Given the description of an element on the screen output the (x, y) to click on. 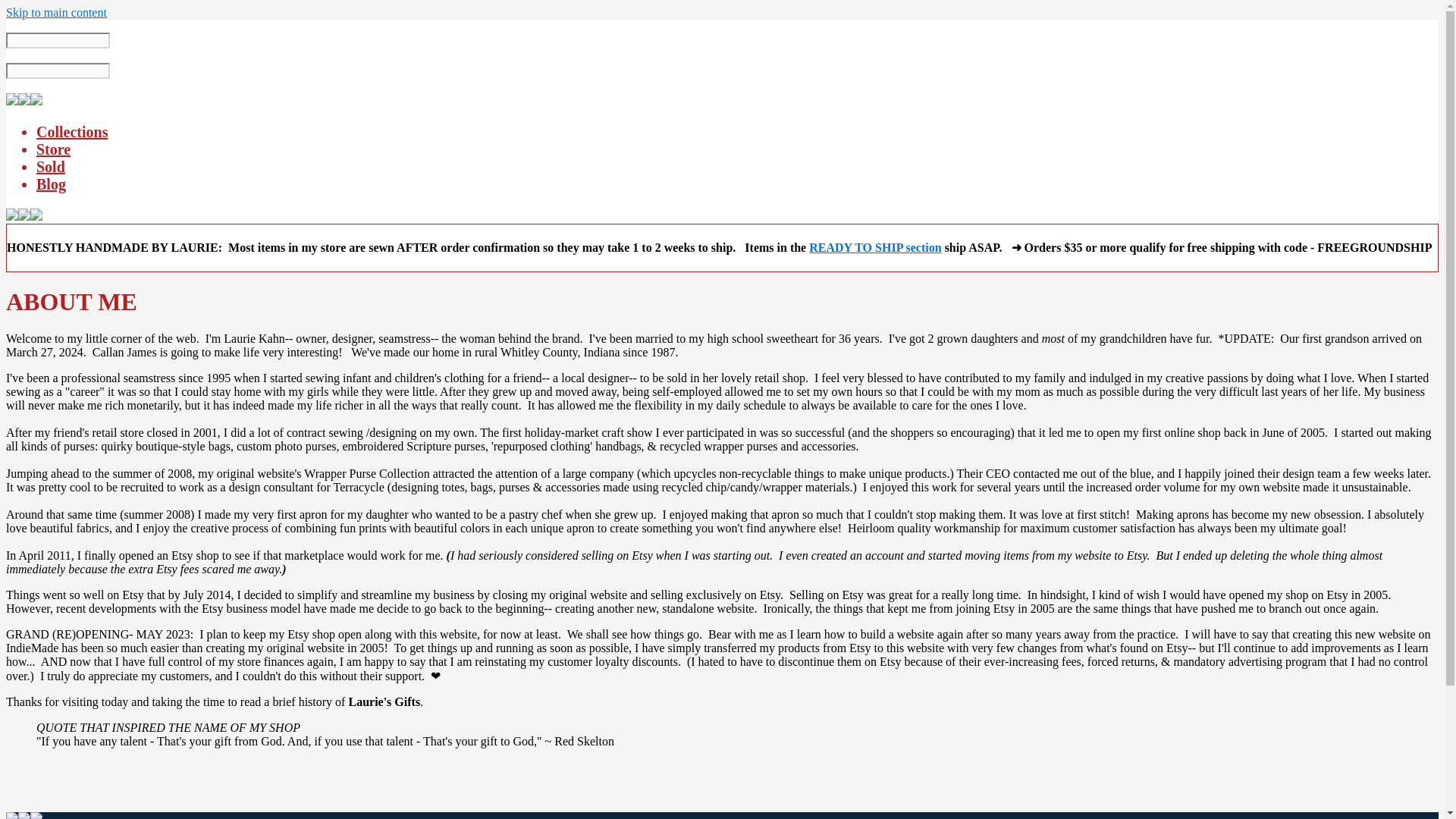
READY TO SHIP section (874, 246)
Collections (71, 131)
Skip to main content (55, 11)
Store (52, 149)
Enter the terms you wish to search for. (57, 70)
Blog (50, 184)
Sold (50, 166)
Enter the terms you wish to search for. (57, 40)
